Given the description of an element on the screen output the (x, y) to click on. 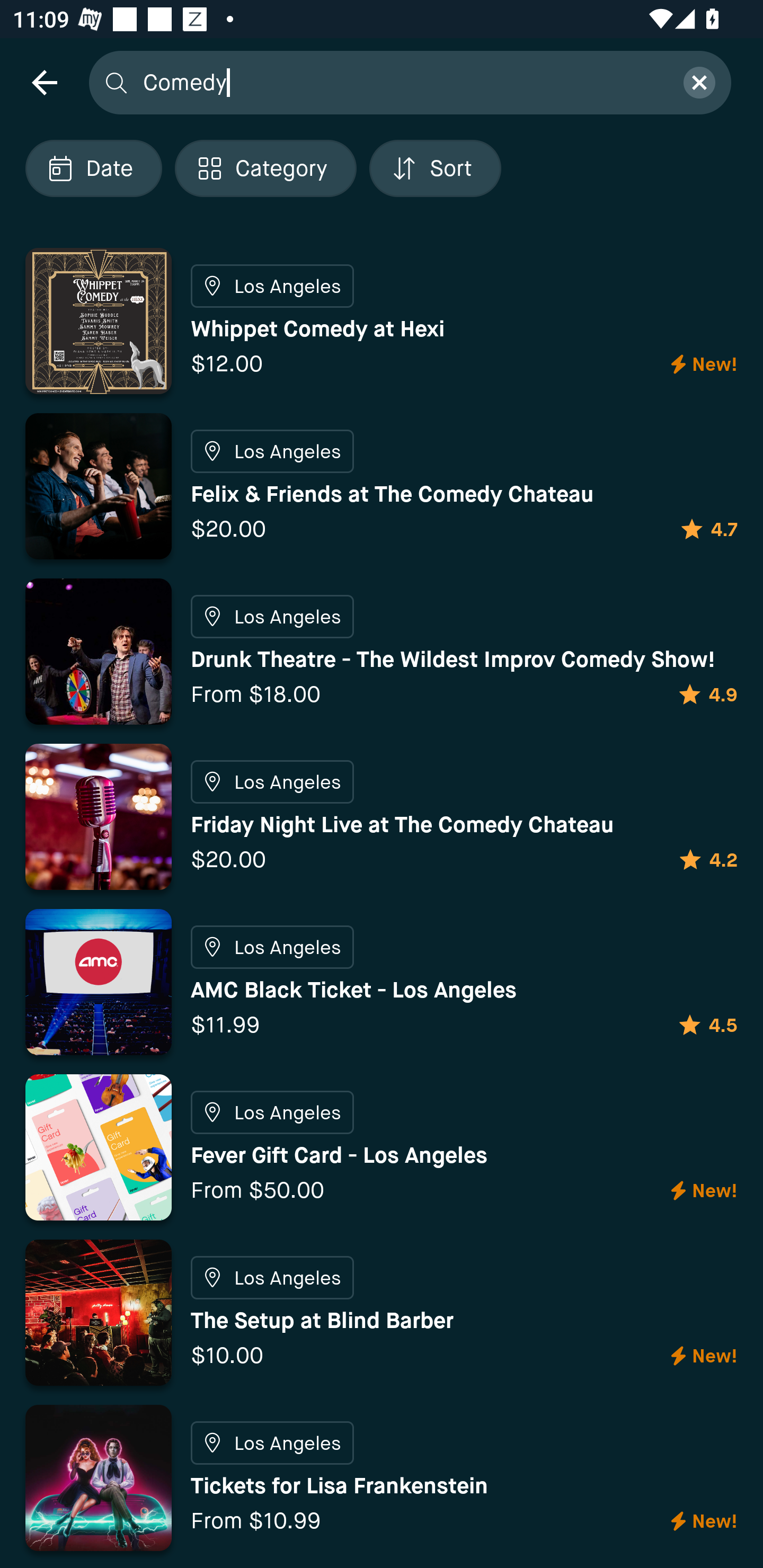
navigation icon (44, 81)
Comedy (402, 81)
Localized description Date (93, 168)
Localized description Category (265, 168)
Localized description Sort (435, 168)
